Given the description of an element on the screen output the (x, y) to click on. 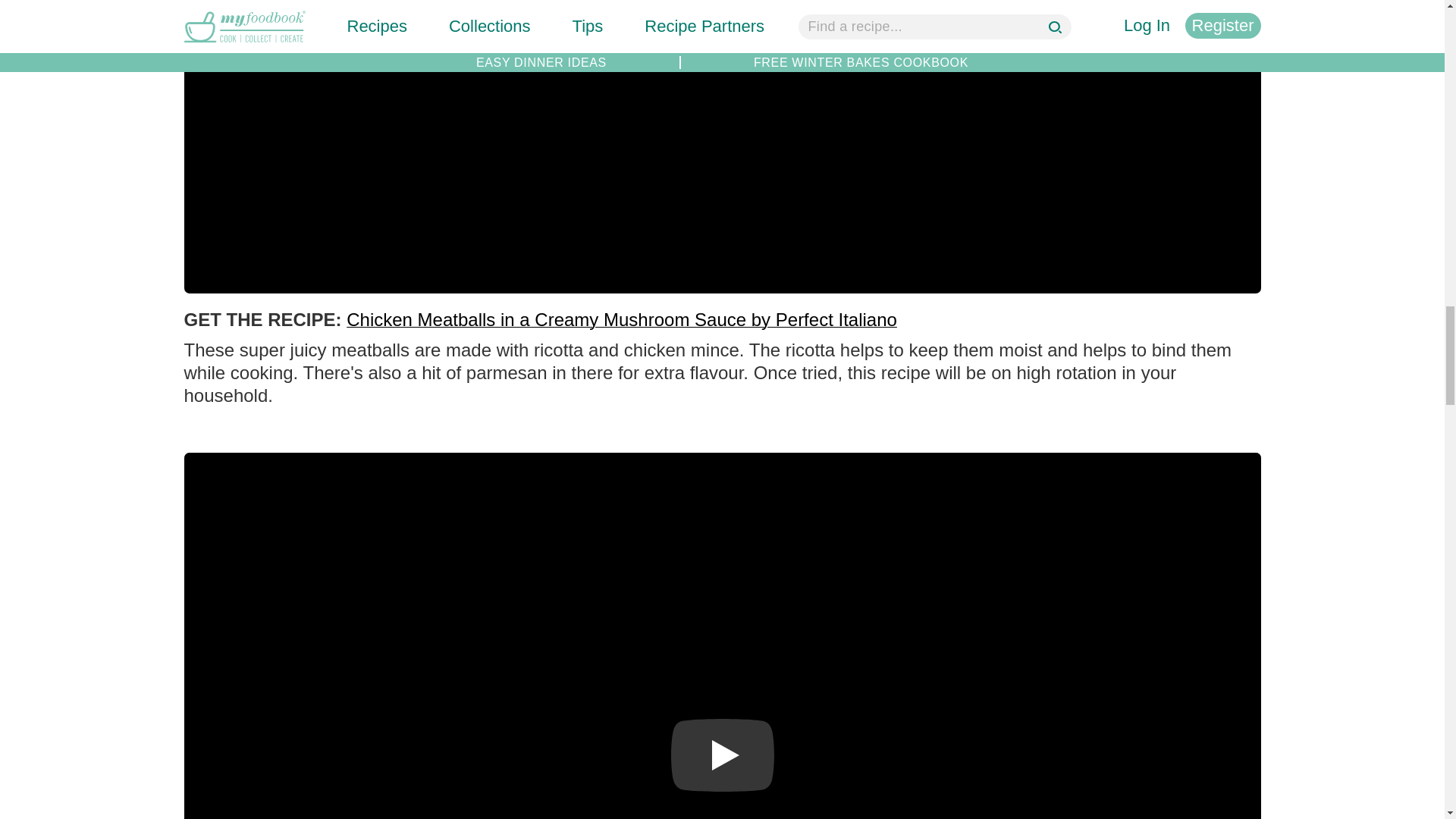
Play: One-pan Meatball Parmigiana (721, 755)
Play Video: Chicken Meatballs in a Creamy Mushroom Sauce (721, 13)
Play: Chicken Meatballs in a Creamy Mushroom Sauce (721, 13)
Play Video: One-pan Meatball Parmigiana (721, 755)
